Given the description of an element on the screen output the (x, y) to click on. 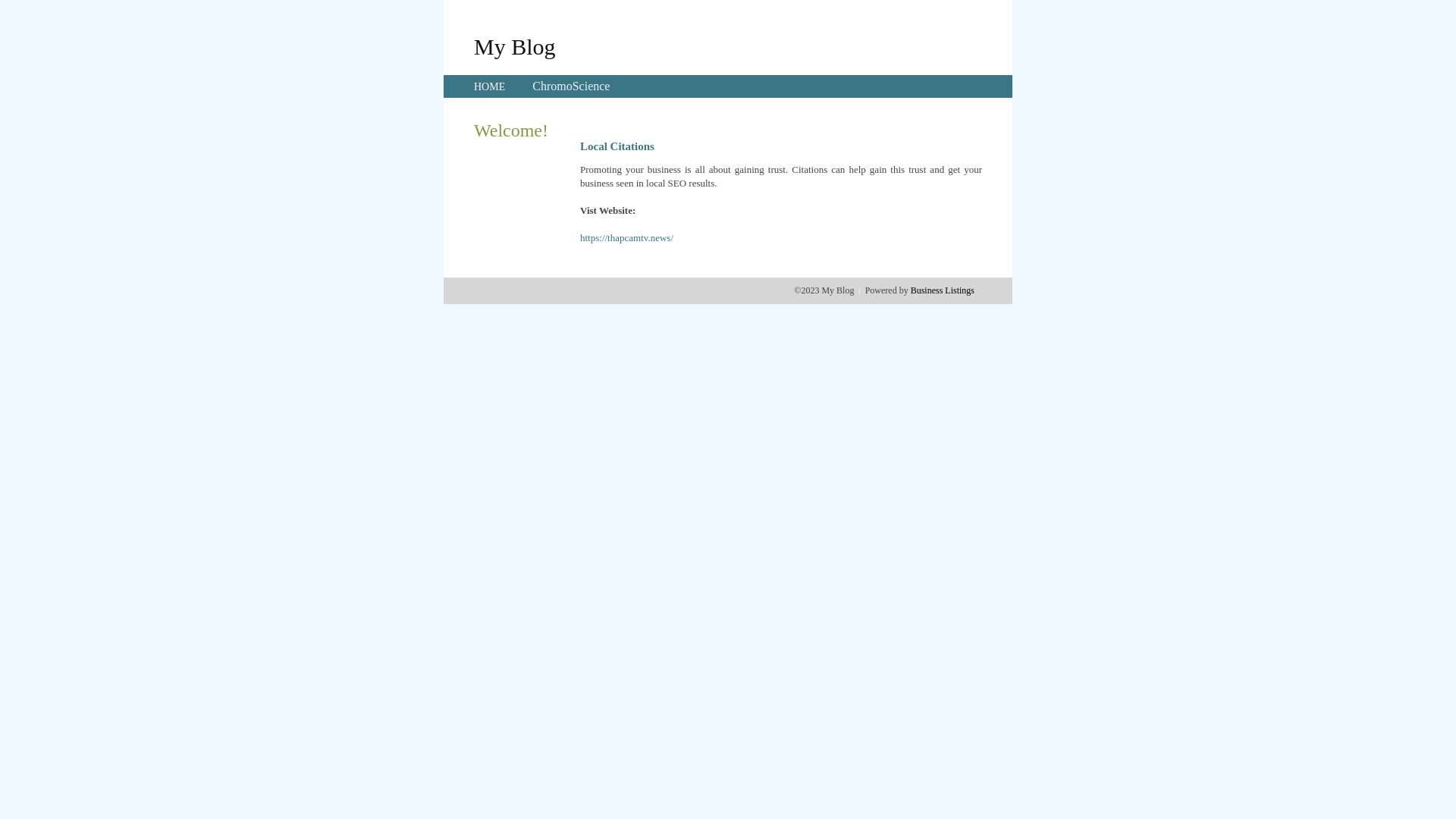
https://thapcamtv.news/ Element type: text (626, 237)
Business Listings Element type: text (942, 290)
My Blog Element type: text (514, 46)
HOME Element type: text (489, 86)
ChromoScience Element type: text (570, 85)
